Given the description of an element on the screen output the (x, y) to click on. 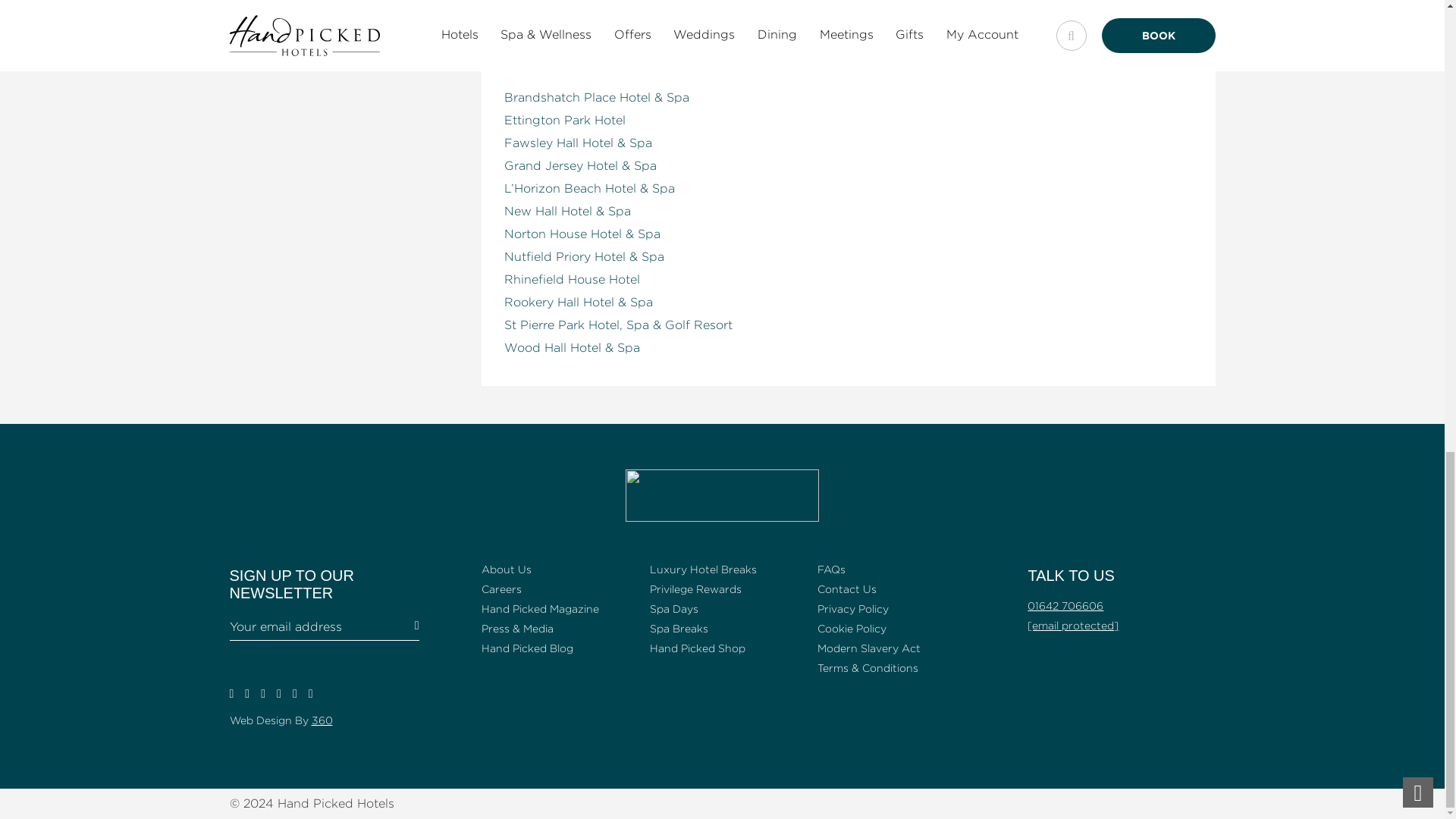
Pinterest (262, 693)
Twitter (246, 693)
Inspirations (278, 693)
Combo-treatments (258, 19)
Facebook (230, 693)
Instagram (310, 693)
YouTube (294, 693)
